Given the description of an element on the screen output the (x, y) to click on. 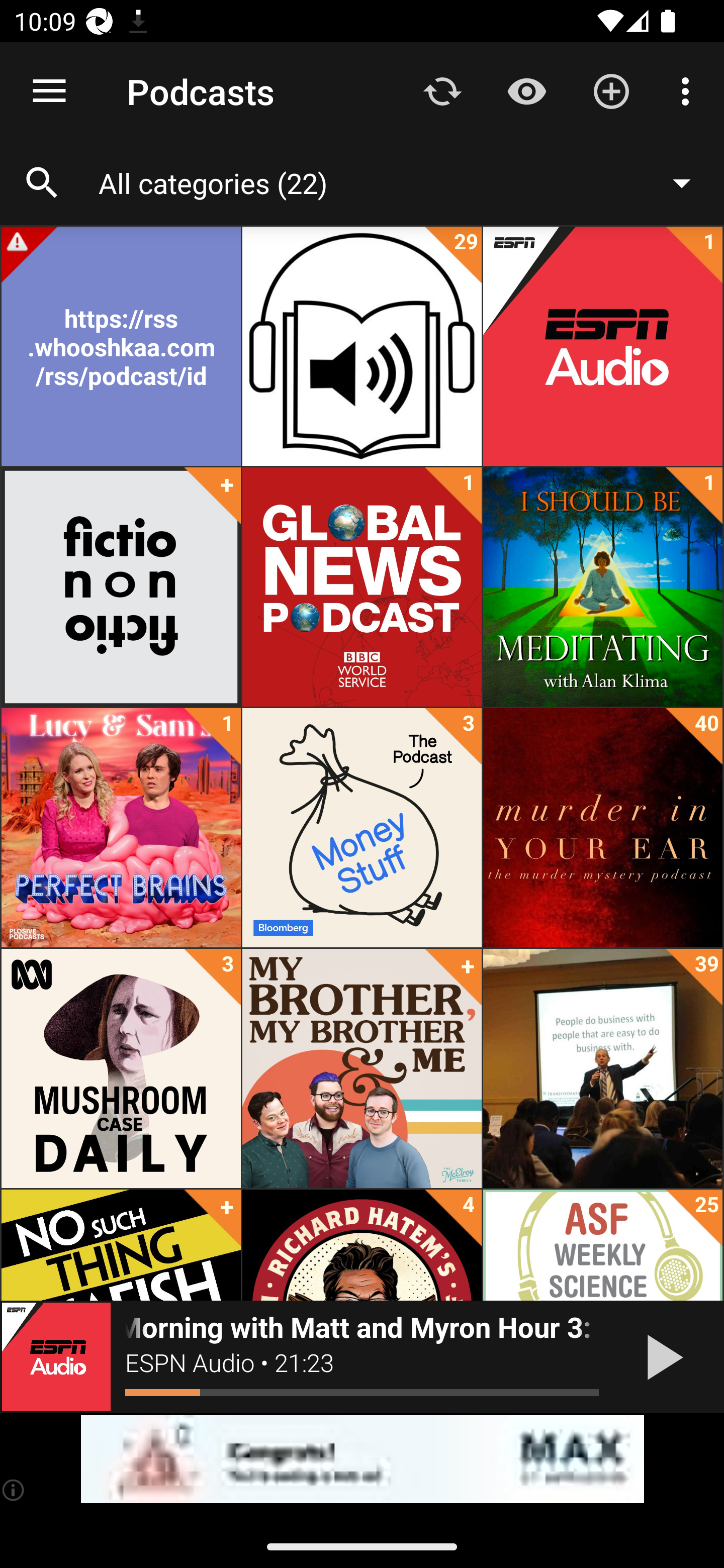
Open navigation sidebar (49, 91)
Update (442, 90)
Show / Hide played content (526, 90)
Add new Podcast (611, 90)
More options (688, 90)
Search (42, 183)
All categories (22) (404, 182)
https://rss.whooshkaa.com/rss/podcast/id/5884 (121, 346)
Audiobooks 29 (361, 346)
ESPN Audio 1 (602, 346)
fiction/non/fiction + (121, 587)
Global News Podcast 1 (361, 587)
Lucy & Sam's Perfect Brains 1 (121, 827)
Money Stuff: The Podcast 3 (361, 827)
Murder In Your Ear-The Murder Mystery Podcast 40 (602, 827)
Mushroom Case Daily 3 (121, 1068)
My Brother, My Brother And Me + (361, 1068)
Play / Pause (660, 1356)
